Given the description of an element on the screen output the (x, y) to click on. 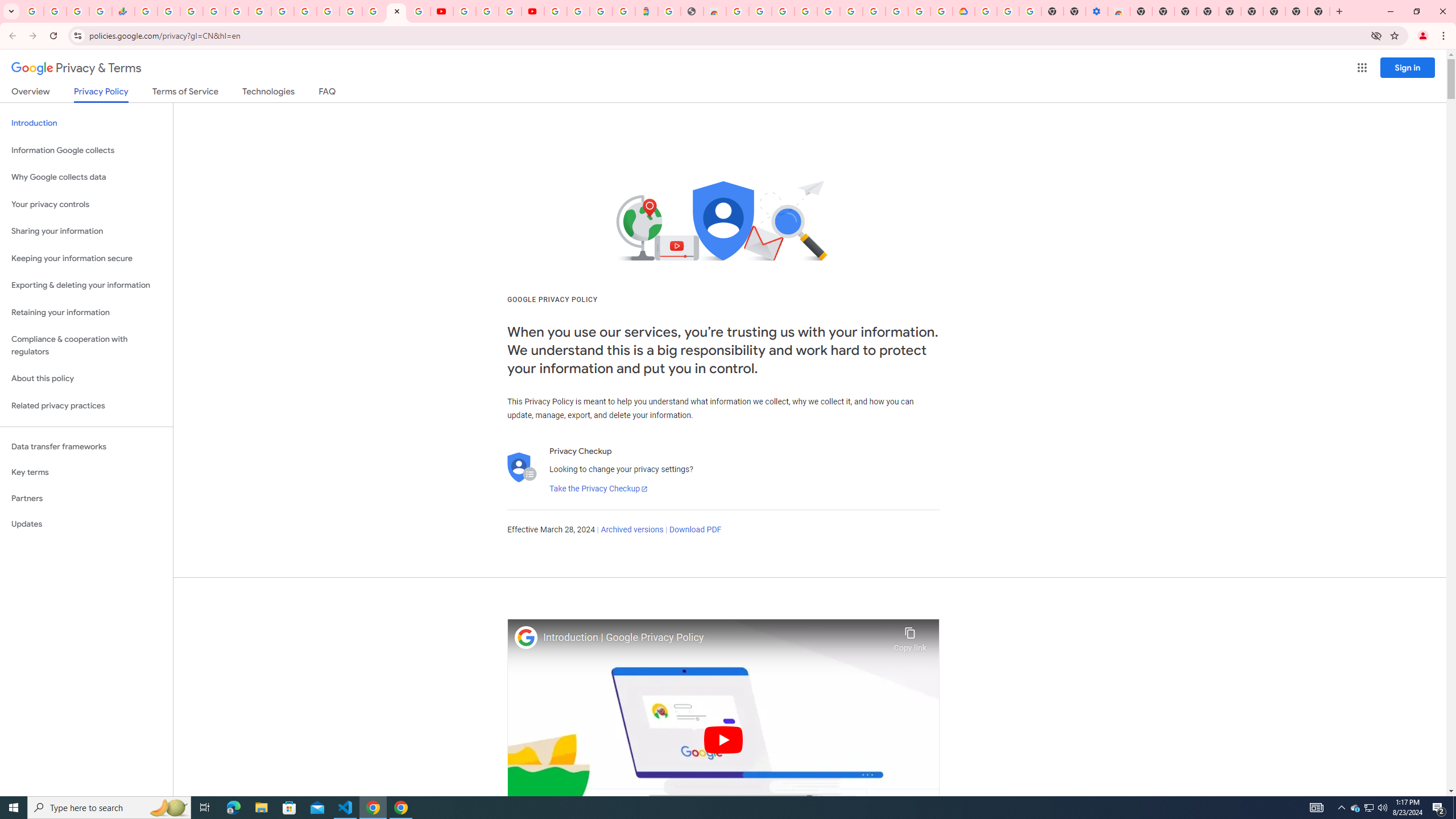
Related privacy practices (86, 405)
Ad Settings (805, 11)
Address and search bar (726, 35)
Google Account Help (1008, 11)
Play (723, 739)
Terms of Service (184, 93)
Back (10, 35)
Sign in - Google Accounts (328, 11)
Google apps (1362, 67)
